Given the description of an element on the screen output the (x, y) to click on. 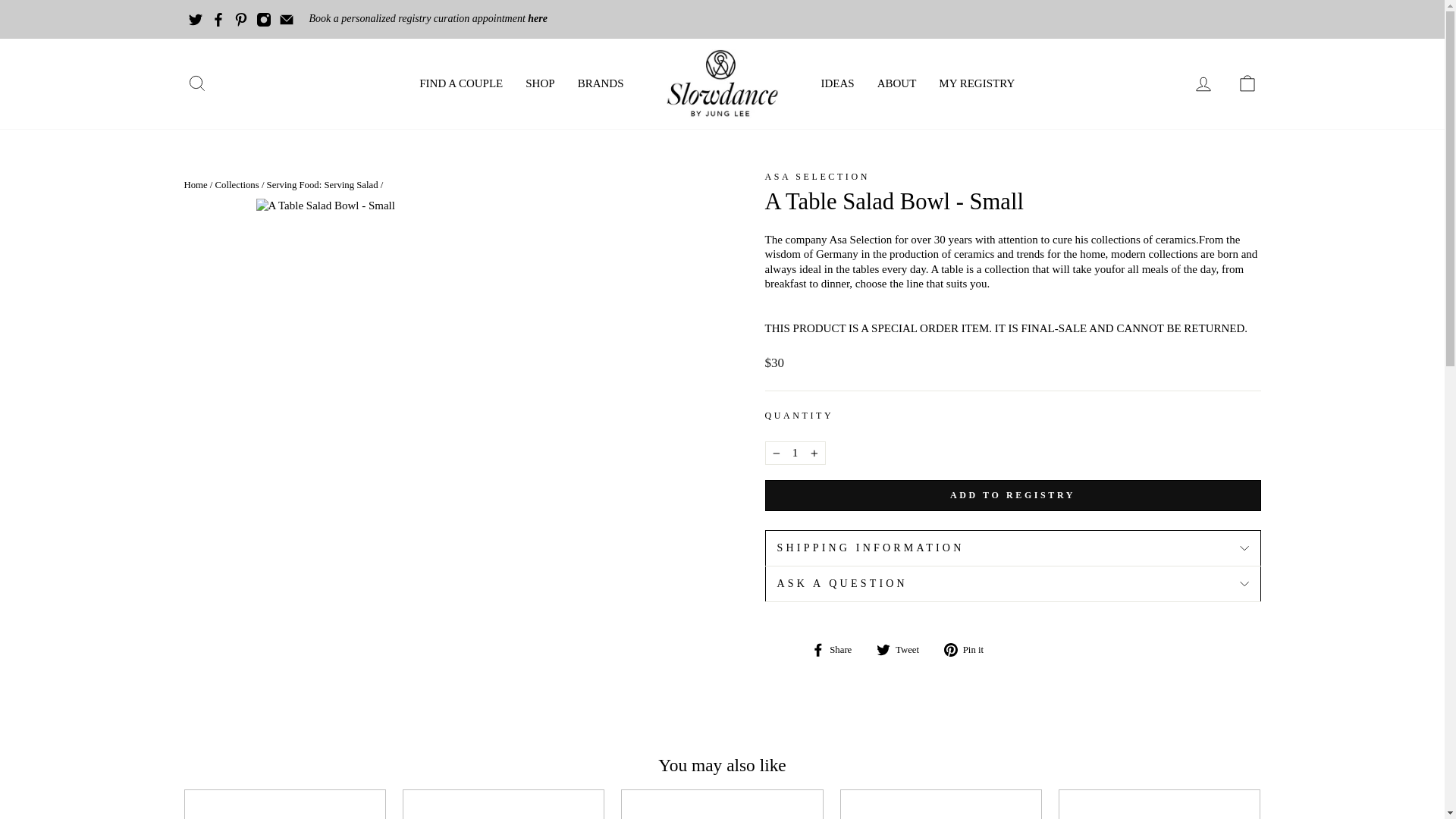
Add to Registry (1012, 495)
ASA Selection (816, 176)
Slowdance by Jung Lee Wedding Registry on Email (286, 18)
Share on Facebook (836, 648)
Slowdance by Jung Lee Wedding Registry on Facebook (218, 18)
1 (794, 453)
Pin on Pinterest (968, 648)
Slowdance by Jung Lee Wedding Registry on Pinterest (240, 18)
Slowdance by Jung Lee Wedding Registry on Twitter (195, 18)
Back to the frontpage (194, 184)
Tweet on Twitter (903, 648)
Slowdance by Jung Lee Wedding Registry on Instagram (263, 18)
